Given the description of an element on the screen output the (x, y) to click on. 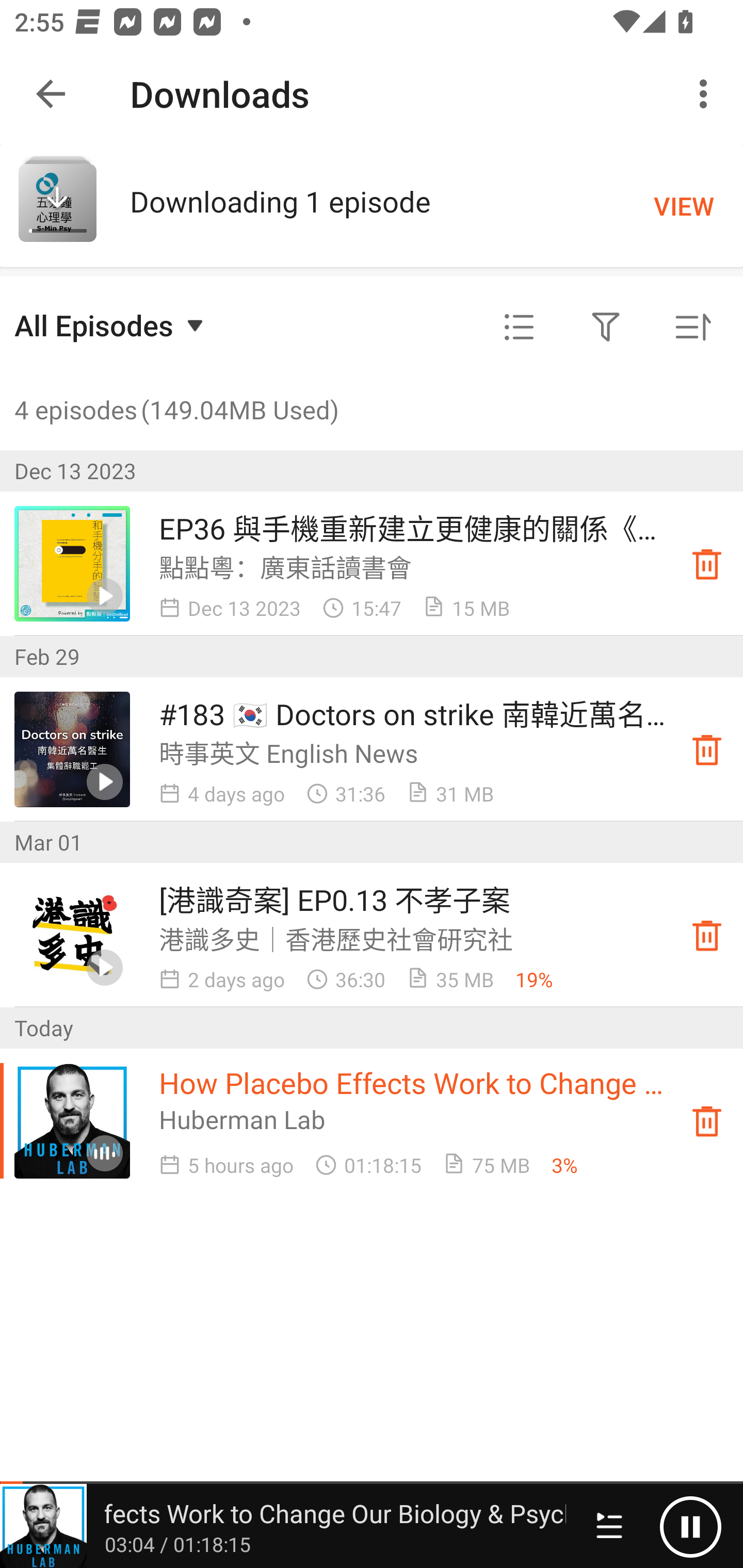
Navigate up (50, 93)
More options (706, 93)
5.0 Downloading 1 episode VIEW (371, 205)
All Episodes (111, 325)
 (518, 327)
 (605, 327)
 Sorted by oldest first (692, 327)
Downloaded (706, 563)
Downloaded (706, 749)
Downloaded (706, 935)
Downloaded (706, 1121)
Pause (654, 1525)
Pause (690, 1526)
